Given the description of an element on the screen output the (x, y) to click on. 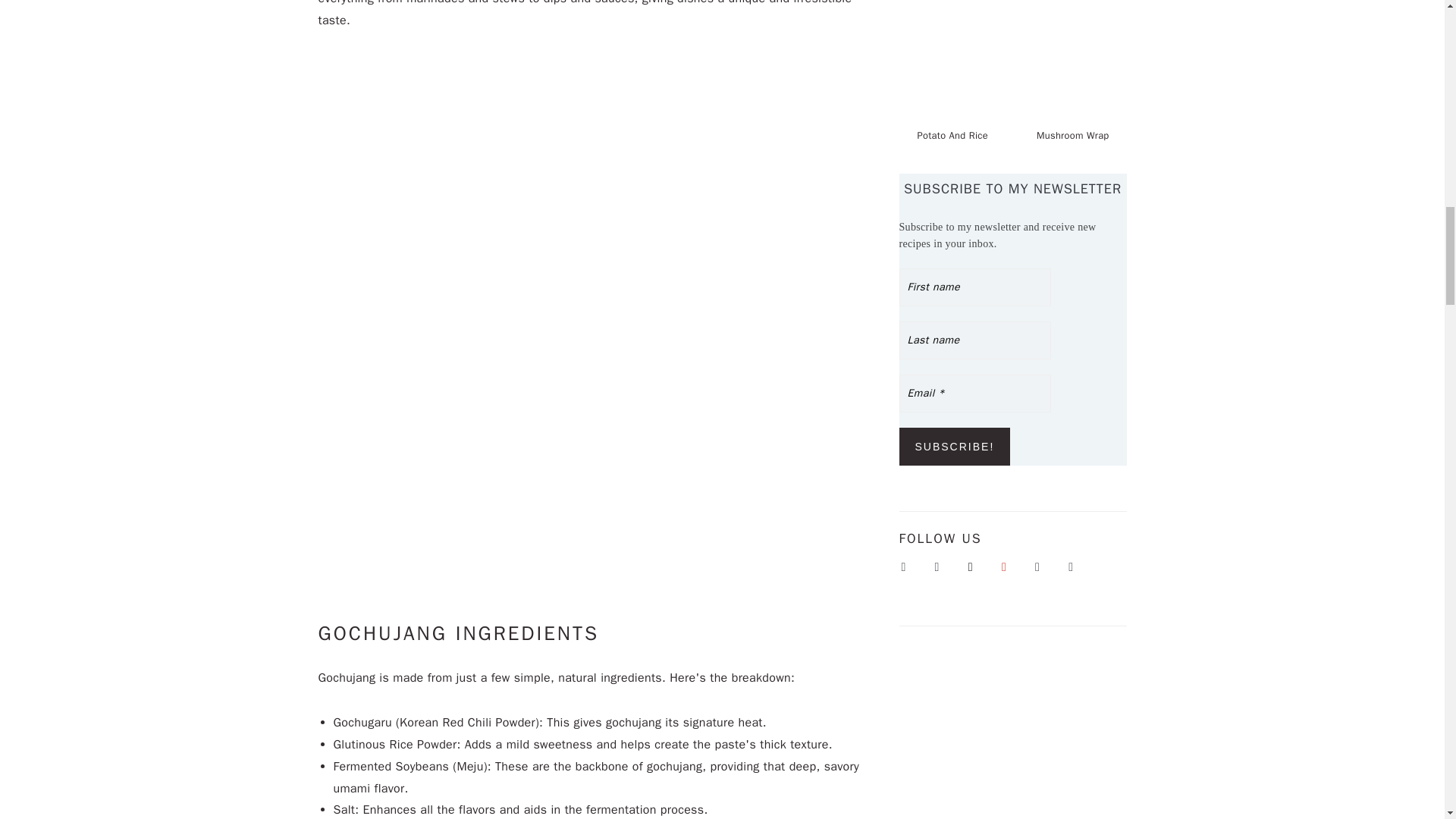
Email (975, 393)
First name (975, 287)
Subscribe! (954, 446)
Last name (975, 340)
